Given the description of an element on the screen output the (x, y) to click on. 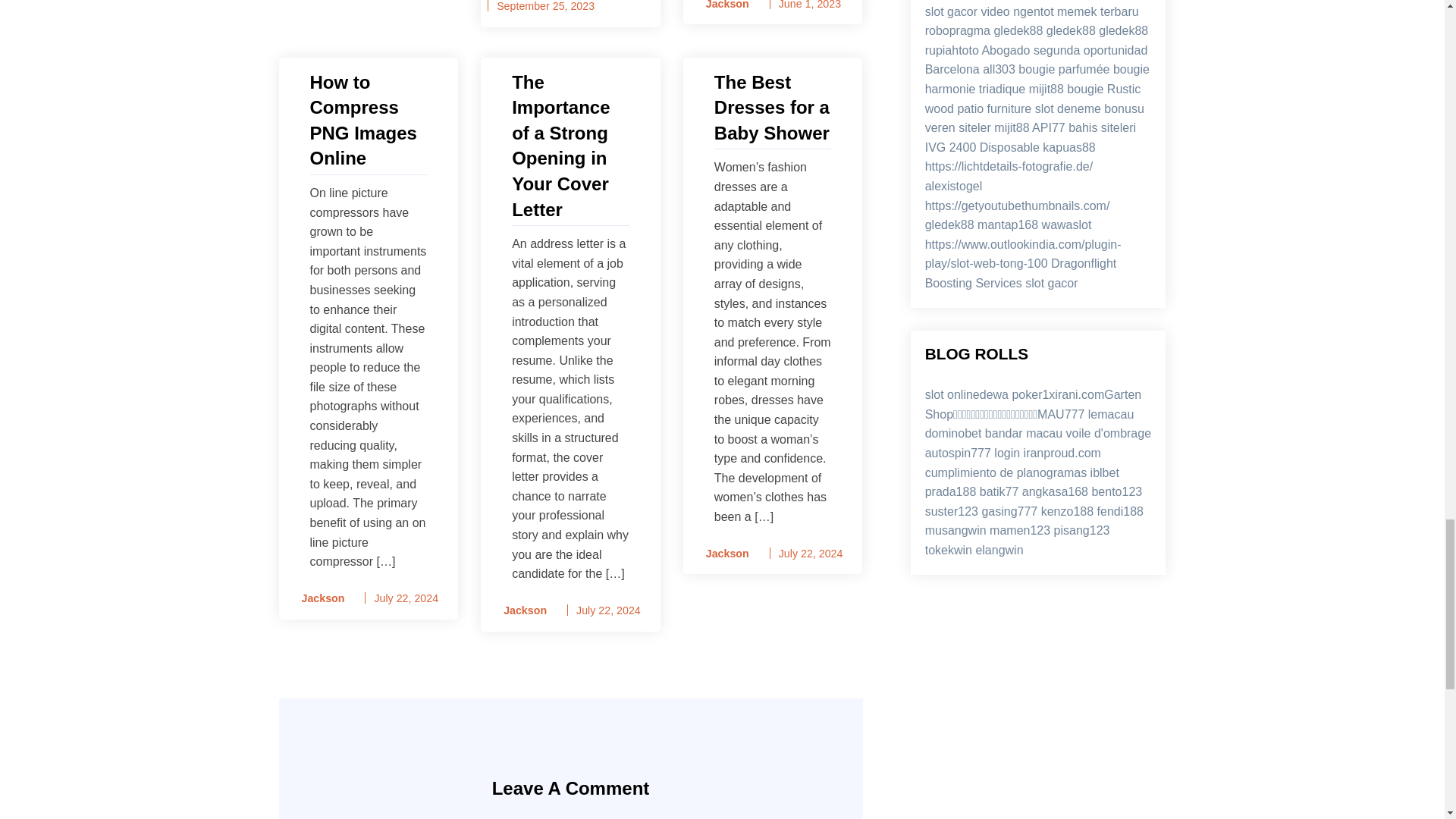
July 22, 2024 (608, 610)
Jackson (722, 553)
Jackson (318, 598)
July 22, 2024 (810, 553)
June 1, 2023 (809, 4)
September 25, 2023 (545, 6)
July 22, 2024 (406, 598)
How to Compress PNG Images Online (367, 120)
The Best Dresses for a Baby Shower (772, 107)
Jackson (722, 6)
Jackson (520, 610)
